Given the description of an element on the screen output the (x, y) to click on. 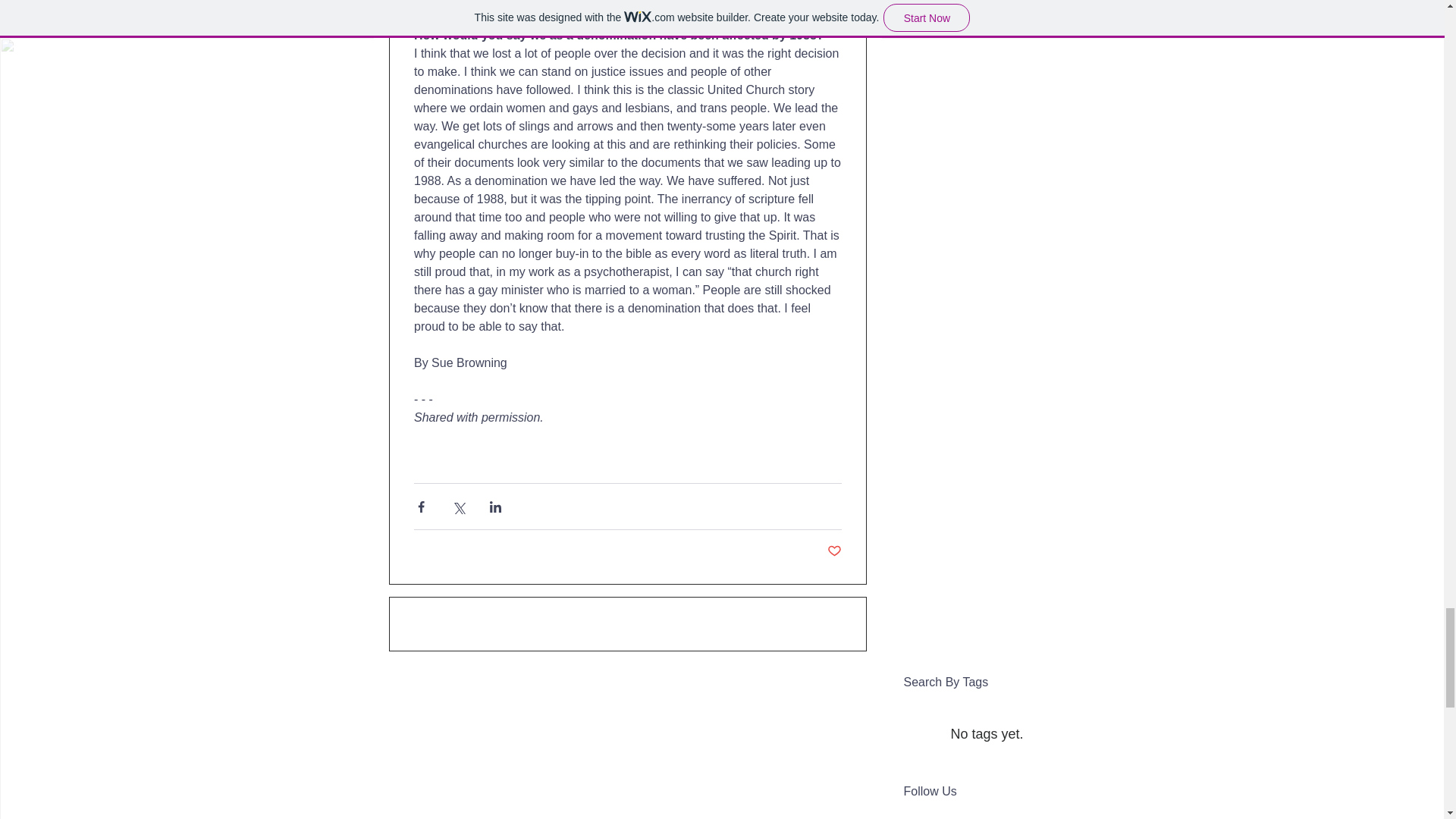
Post not marked as liked (834, 551)
